Given the description of an element on the screen output the (x, y) to click on. 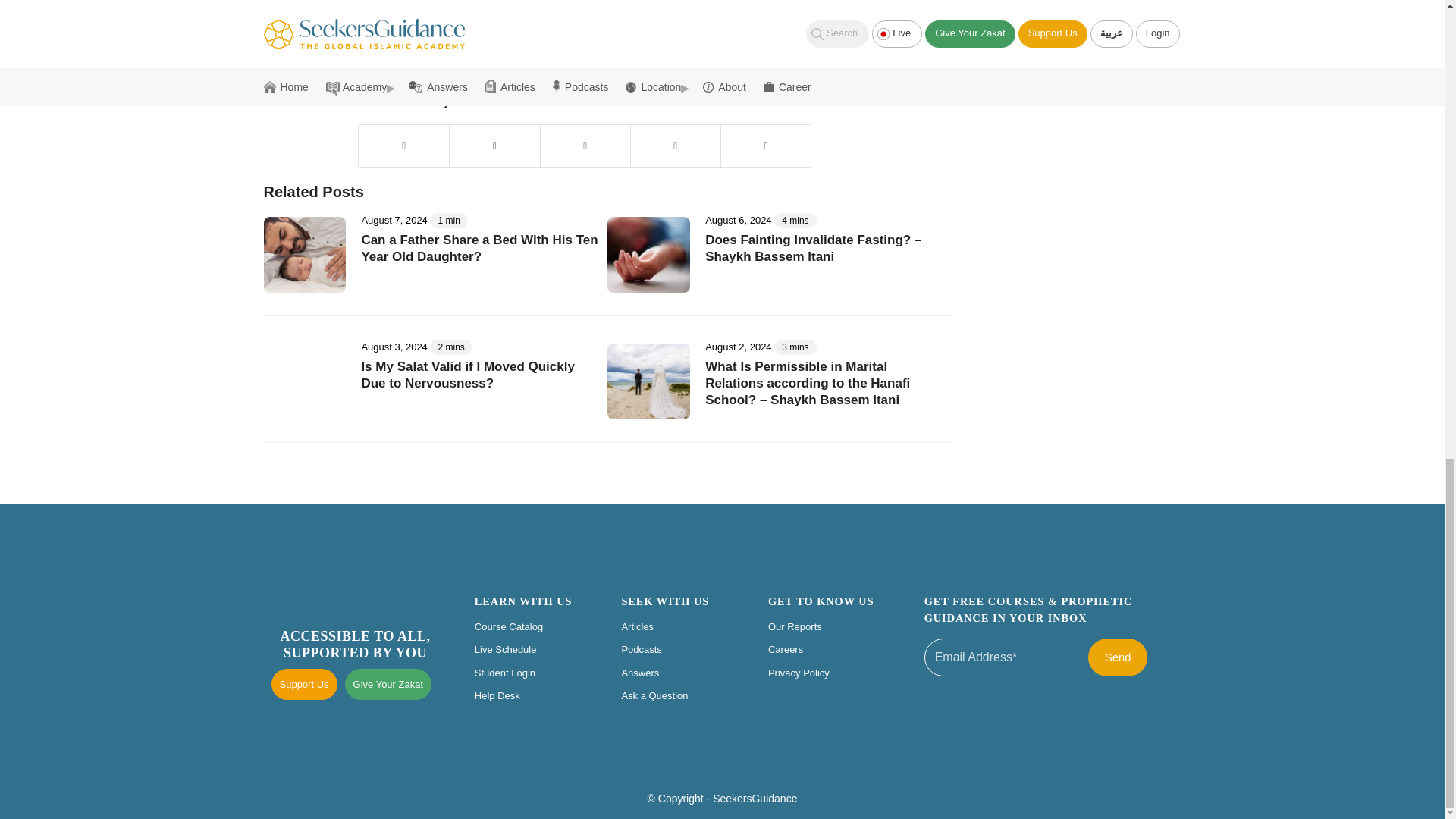
fasting (424, 61)
fast (395, 61)
send (1117, 657)
